Given the description of an element on the screen output the (x, y) to click on. 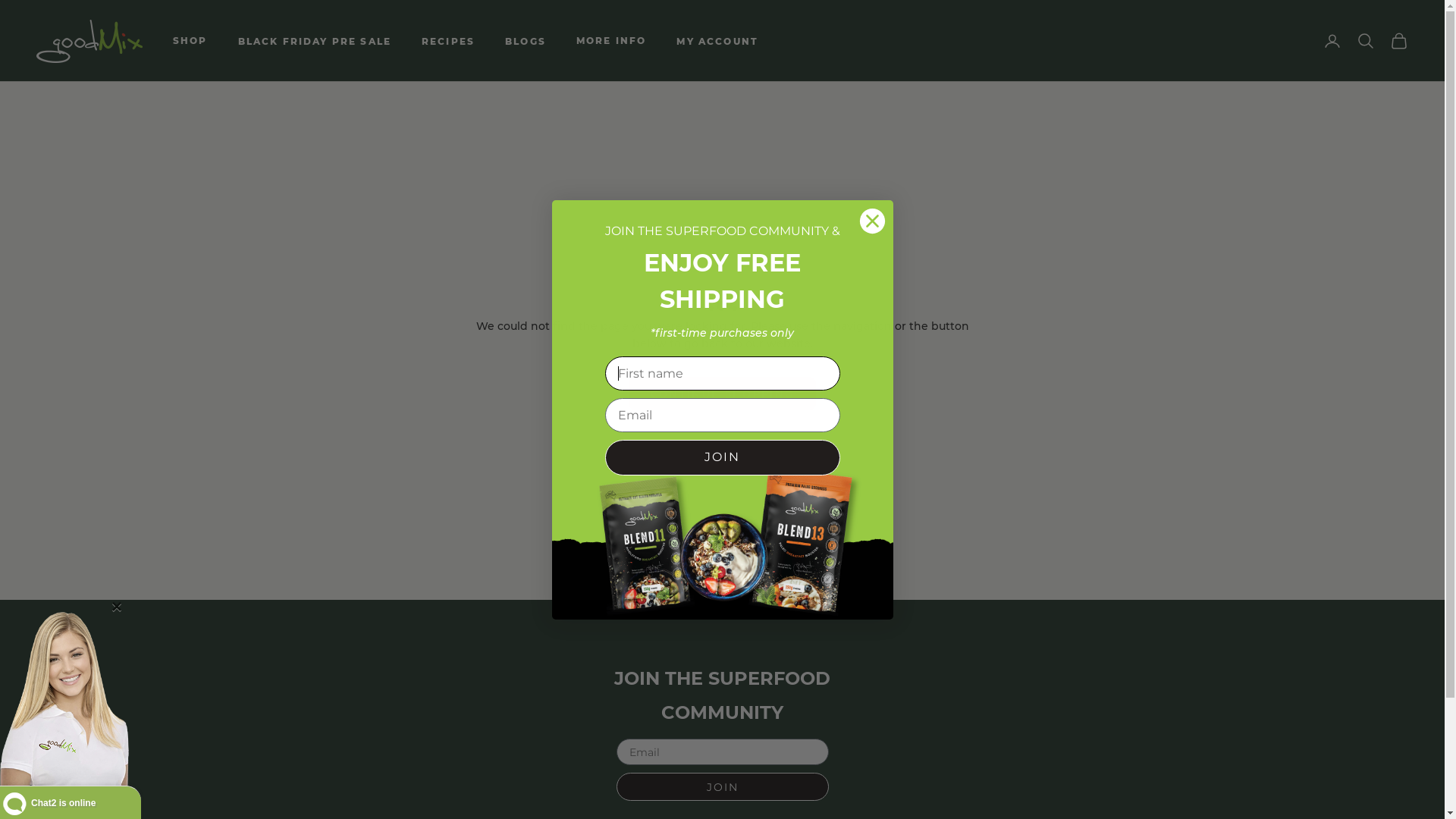
Open search Element type: text (1365, 40)
CONTINUE SHOPPING Element type: text (722, 393)
JOIN Element type: text (722, 457)
MY ACCOUNT Element type: text (717, 41)
Close dialog 3 Element type: text (871, 220)
Submit Element type: text (22, 7)
BLOGS Element type: text (525, 41)
goodMix Superfoods Element type: text (89, 40)
RECIPES Element type: text (447, 41)
JOIN Element type: text (721, 786)
BLACK FRIDAY PRE SALE Element type: text (314, 41)
Open cart Element type: text (1399, 40)
Open account page Element type: text (1332, 40)
